Given the description of an element on the screen output the (x, y) to click on. 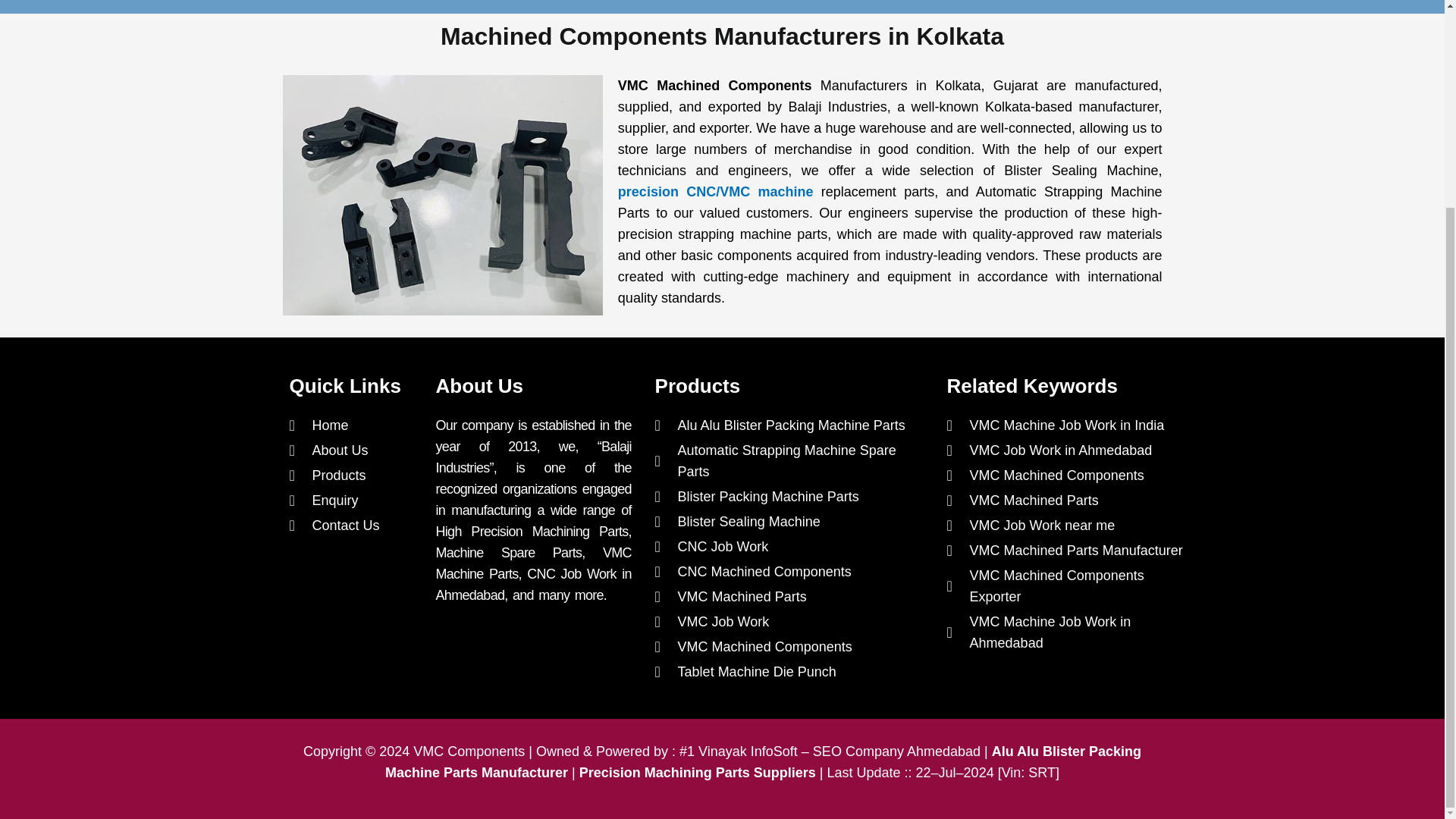
Home (354, 424)
About Us (354, 450)
